Given the description of an element on the screen output the (x, y) to click on. 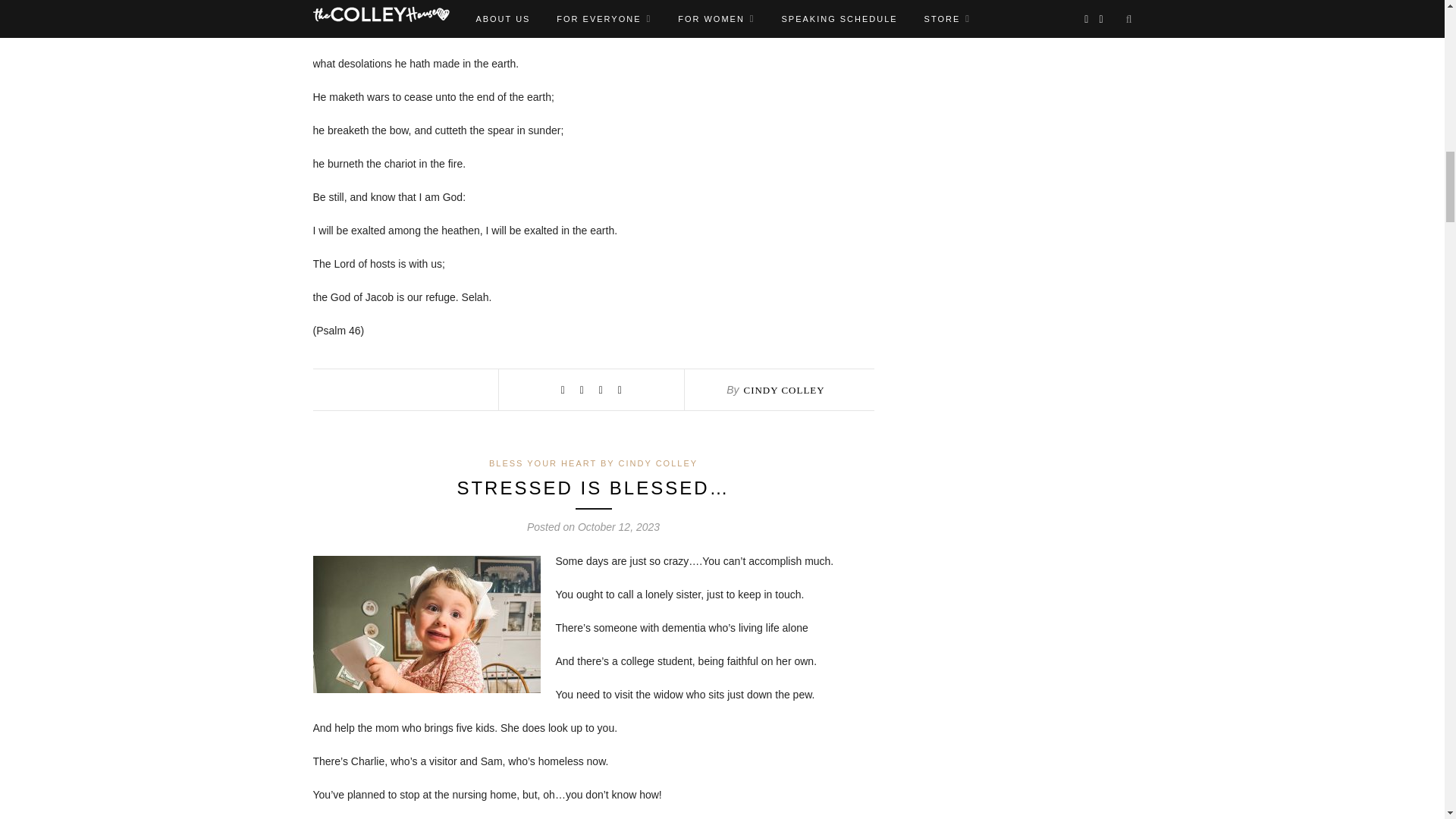
Posts by Cindy Colley (783, 389)
